Given the description of an element on the screen output the (x, y) to click on. 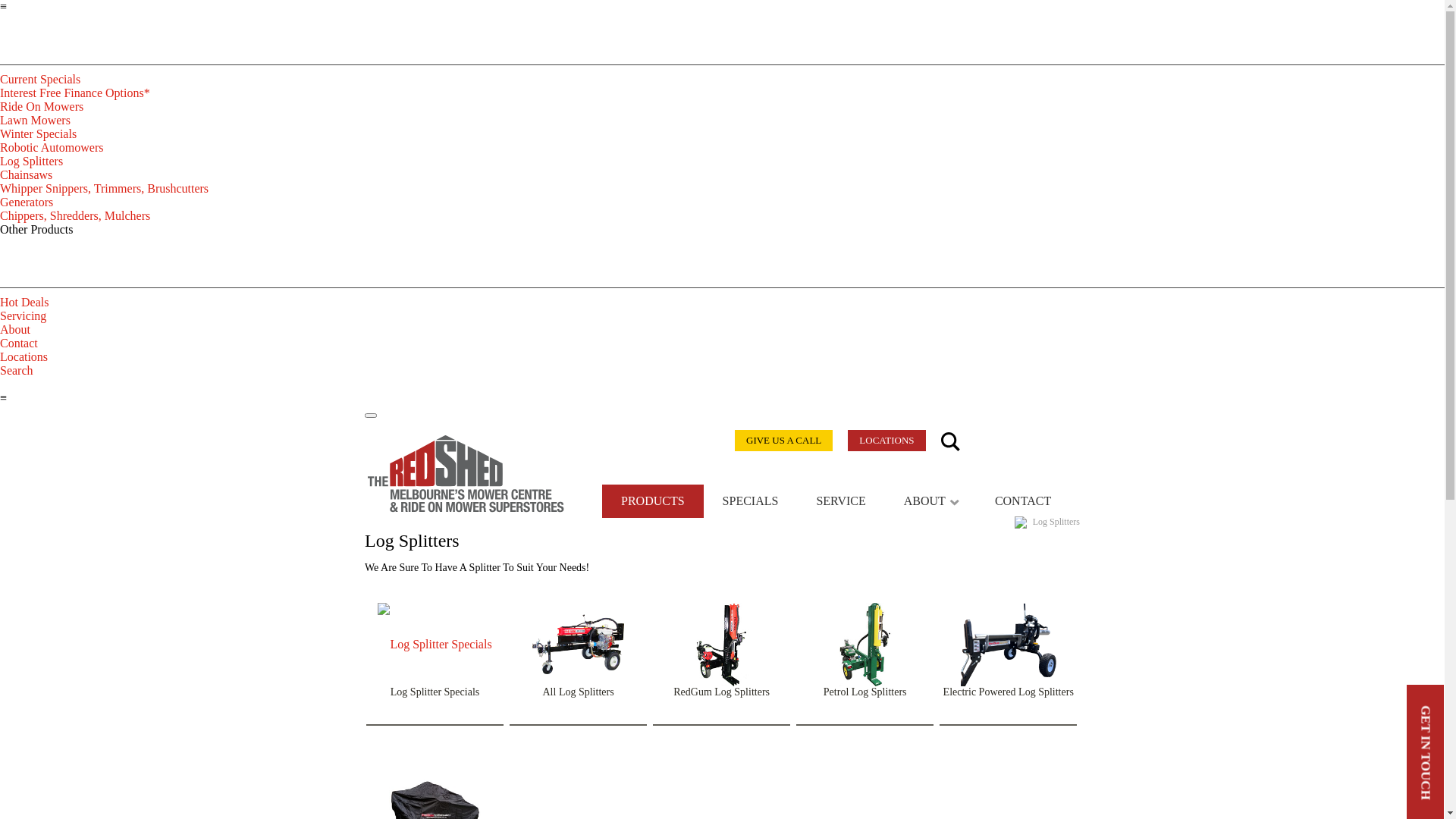
SERVICE Element type: text (840, 500)
Log Splitters Element type: text (31, 160)
Log Splitter Main Element type: hover (578, 644)
Locations Element type: text (23, 356)
Generators Element type: text (26, 201)
Log Splitter Specials Element type: hover (434, 644)
Servicing Element type: text (23, 315)
ABOUT Element type: text (929, 500)
LOCATIONS Element type: text (886, 440)
Lawn Mowers Element type: text (35, 119)
Hot Deals Element type: text (24, 301)
Current Specials Element type: text (40, 78)
Contact Element type: text (18, 342)
Whipper Snippers, Trimmers, Brushcutters Element type: text (104, 188)
CONTACT Element type: text (1022, 500)
SPECIALS Element type: text (750, 500)
Robotic Automowers Element type: text (51, 147)
RedGum Log Splitters Element type: text (721, 691)
About Element type: text (15, 329)
Petrol Log Splitters Element type: text (864, 691)
Other Products Element type: text (36, 228)
Ride On Mowers Element type: text (41, 106)
All Log Splitters Element type: text (578, 691)
Winter Specials Element type: text (38, 133)
PRODUCTS Element type: text (652, 500)
Interest Free Finance Options* Element type: text (75, 92)
Electric Powered Log Splitters Element type: text (1008, 691)
Chainsaws Element type: text (26, 174)
Search Element type: text (16, 370)
GIVE US A CALL Element type: text (783, 440)
Chippers, Shredders, Mulchers Element type: text (75, 215)
Log Splitter Specials Element type: text (434, 691)
